Given the description of an element on the screen output the (x, y) to click on. 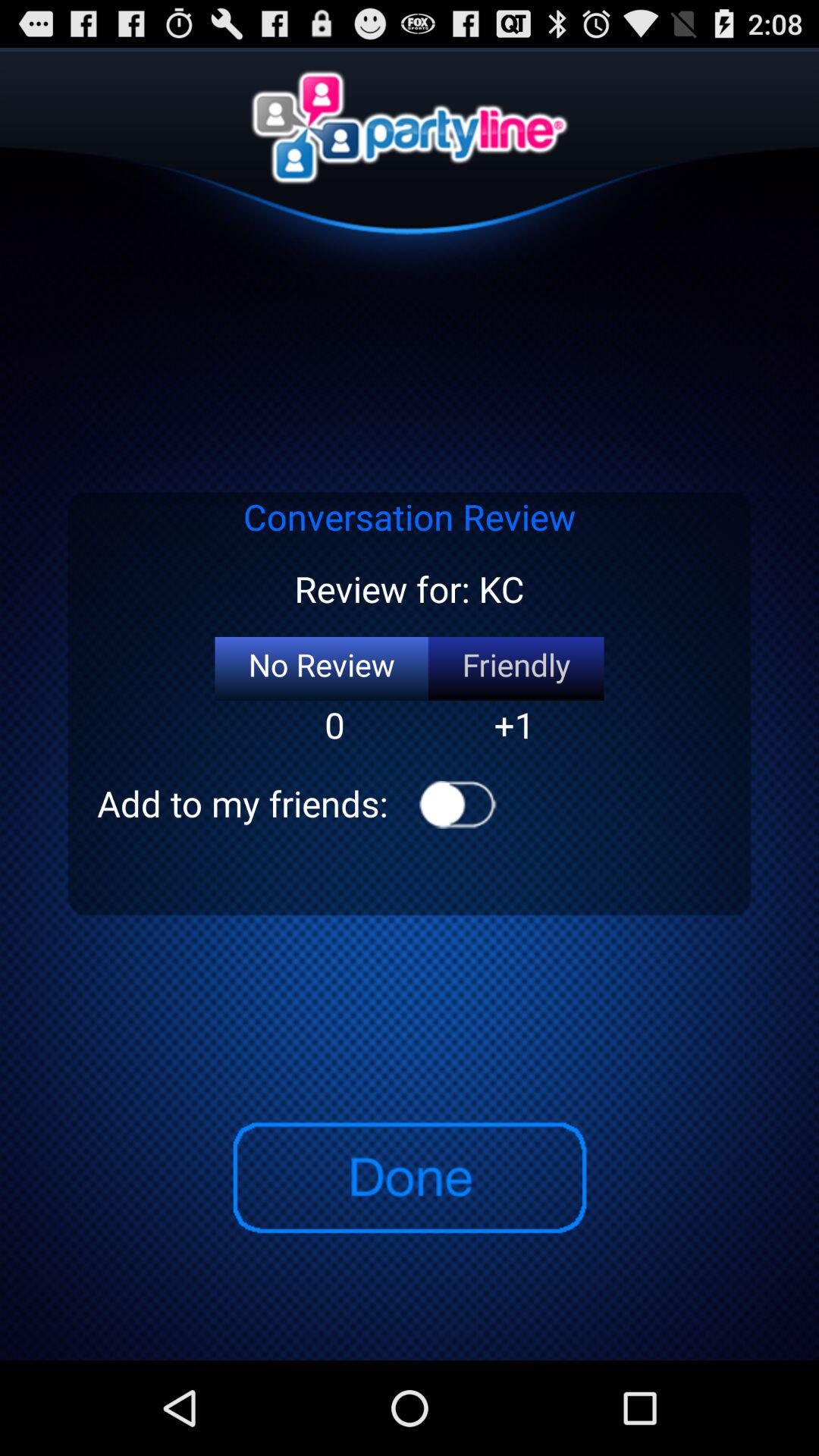
turn off item at the bottom (409, 1177)
